Given the description of an element on the screen output the (x, y) to click on. 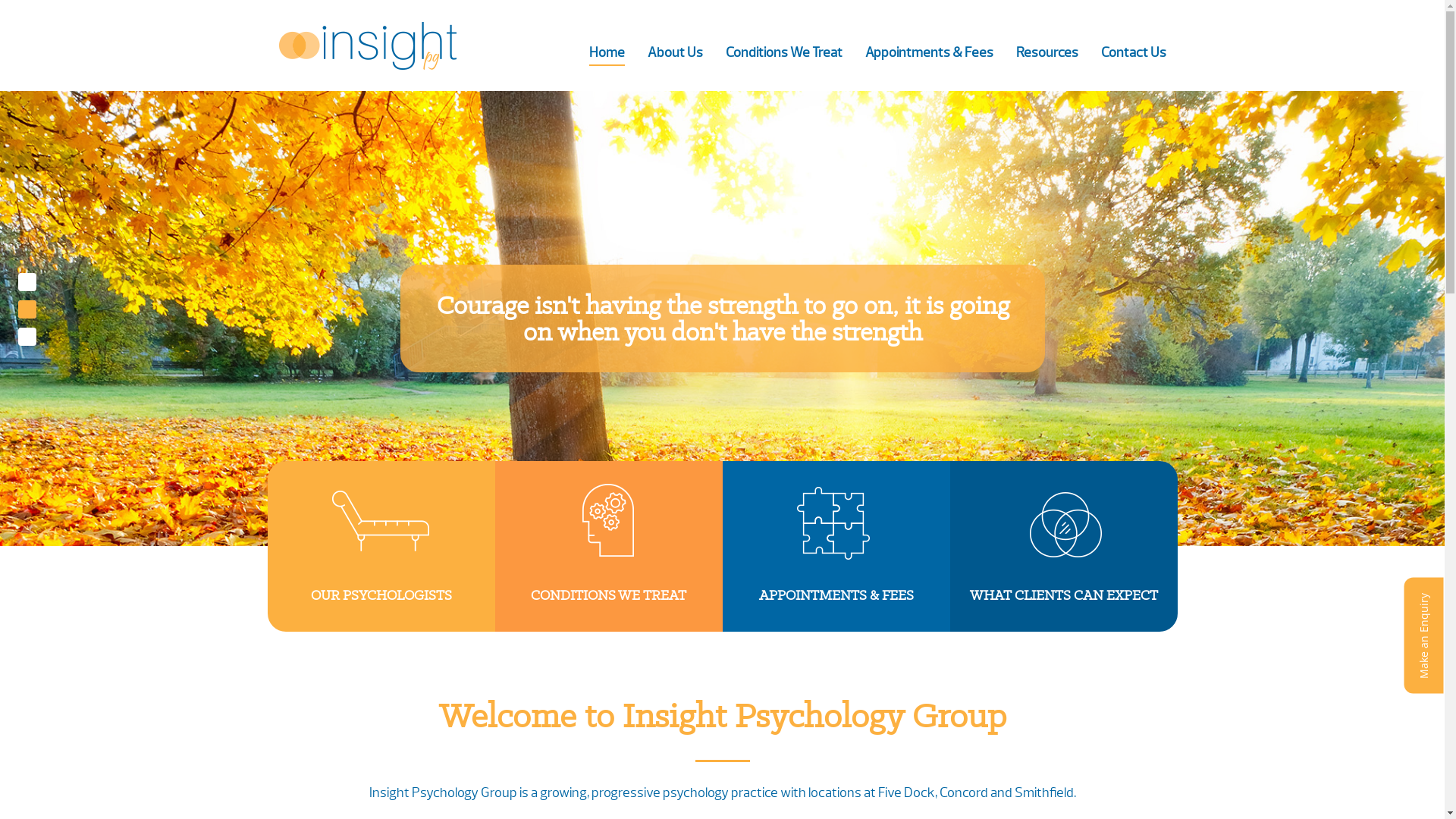
Home Element type: text (606, 53)
Contact Us Element type: text (1133, 53)
Appointments & Fees Element type: text (928, 53)
Resources Element type: text (1047, 53)
About Us Element type: text (674, 53)
Conditions We Treat Element type: text (782, 53)
